Given the description of an element on the screen output the (x, y) to click on. 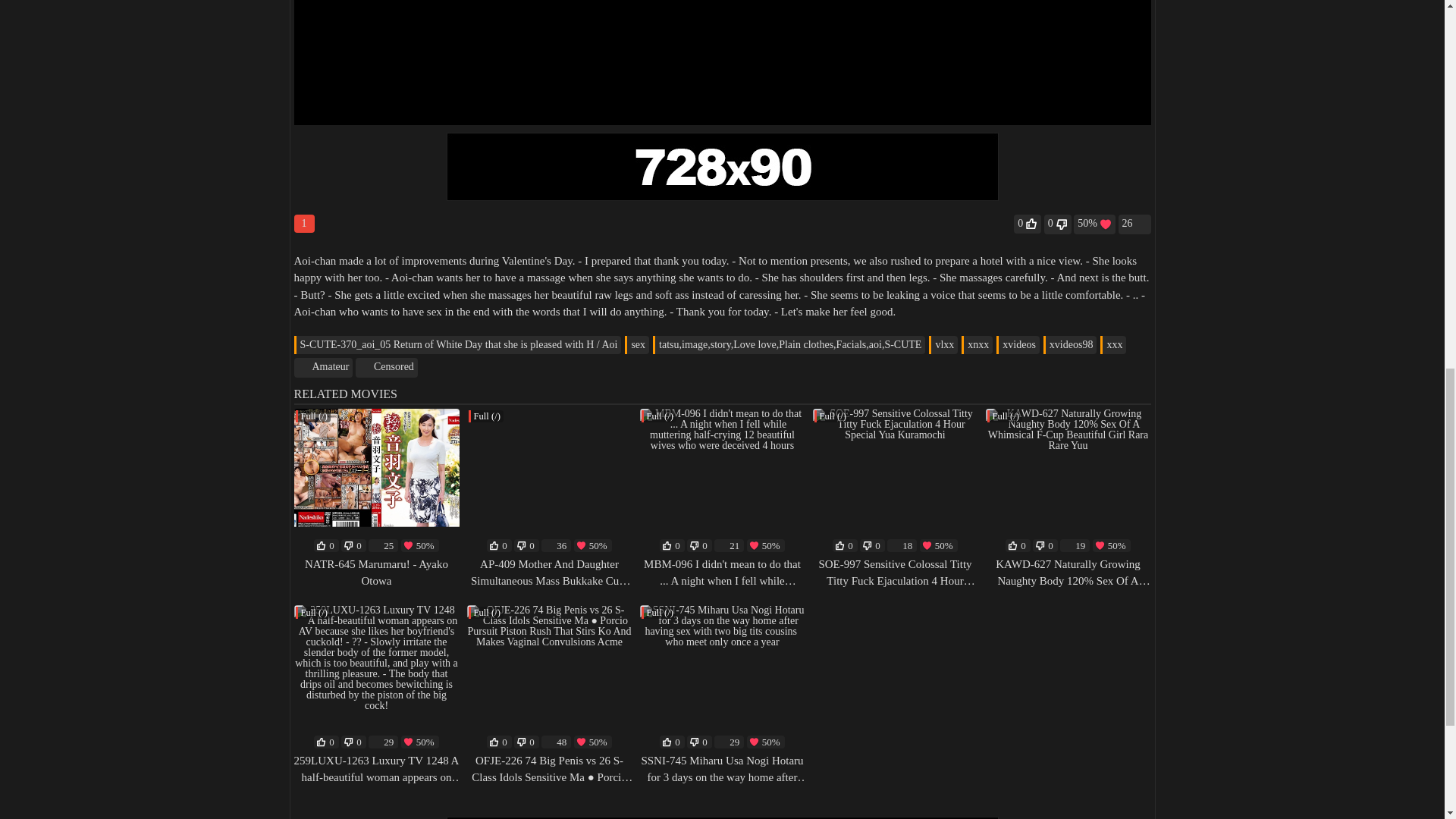
NATR-645 Marumaru! - Ayako Otowa (376, 572)
xvideos98 (1070, 344)
xxx (1112, 344)
xxx (1112, 344)
xvideos (1017, 344)
Censored (386, 367)
tatsu,image,story,Love love,Plain clothes,Facials,aoi,S-CUTE (788, 344)
NATR-645 Marumaru!  - Ayako Otowa (376, 482)
vlxx (943, 344)
xnxx (976, 344)
xvideos (1017, 344)
tatsu,image,story,Love love,Plain clothes,Facials,aoi,S-CUTE (788, 344)
